Given the description of an element on the screen output the (x, y) to click on. 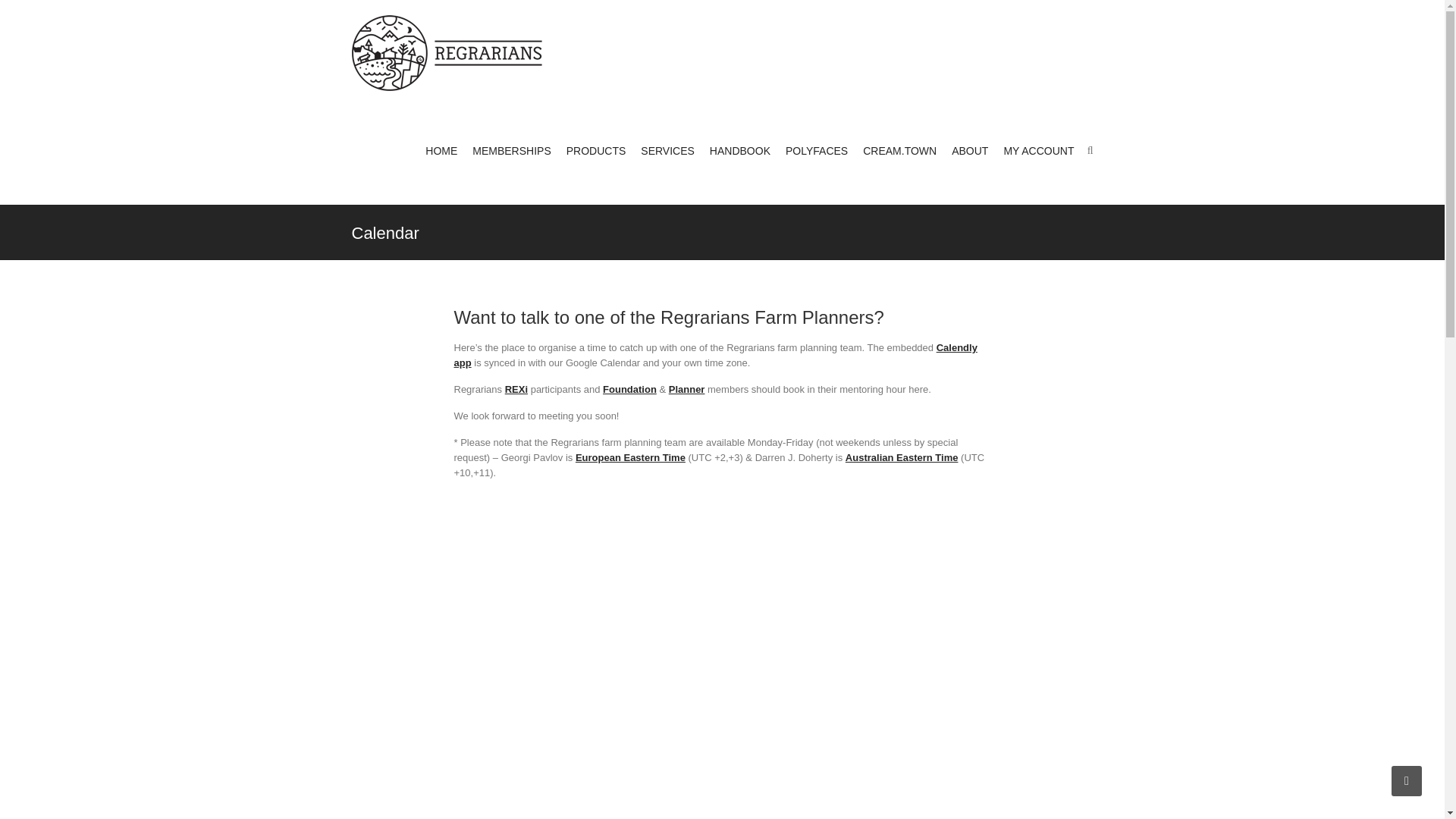
Regrarians (450, 52)
CREAM.TOWN (899, 151)
MEMBERSHIPS (510, 151)
